Given the description of an element on the screen output the (x, y) to click on. 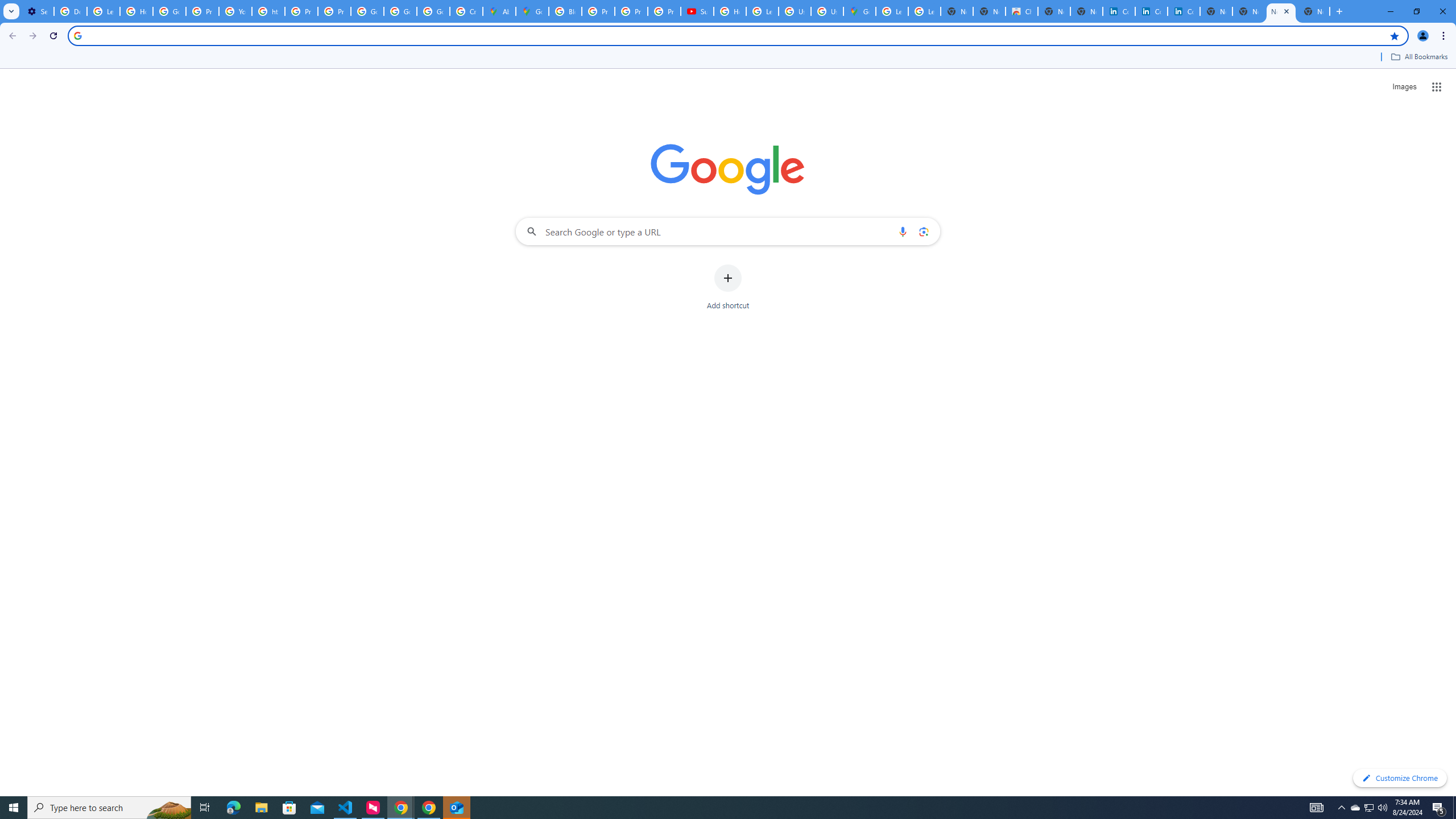
Search Google or type a URL (727, 230)
All Bookmarks (1418, 56)
Google Maps (532, 11)
Search tabs (10, 11)
Privacy Help Center - Policies Help (598, 11)
System (6, 6)
Delete photos & videos - Computer - Google Photos Help (70, 11)
Search for Images  (1403, 87)
Bookmarks (728, 58)
How Chrome protects your passwords - Google Chrome Help (730, 11)
Privacy Help Center - Policies Help (202, 11)
Google Account Help (169, 11)
